Given the description of an element on the screen output the (x, y) to click on. 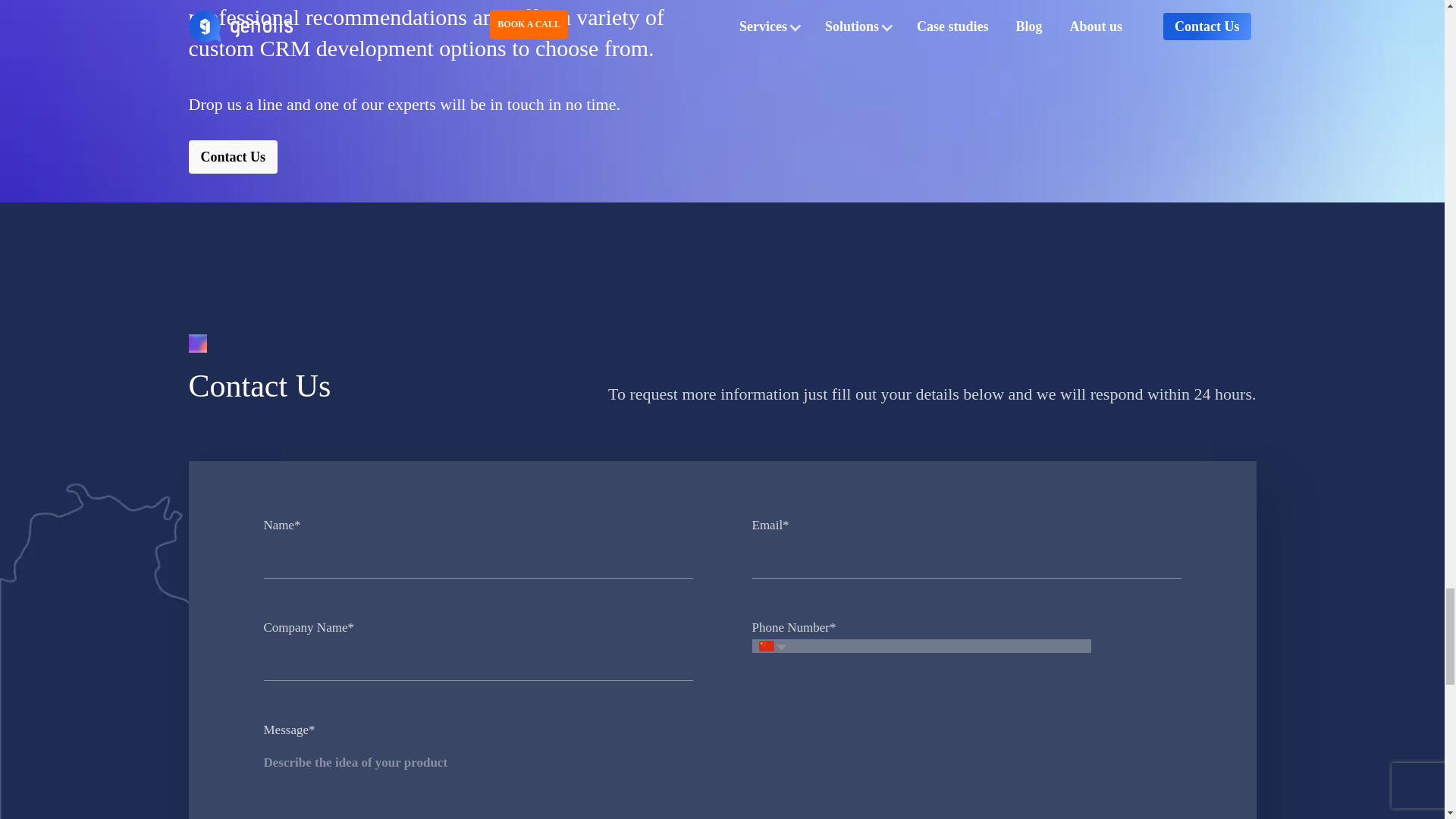
Contact Us (232, 156)
